Given the description of an element on the screen output the (x, y) to click on. 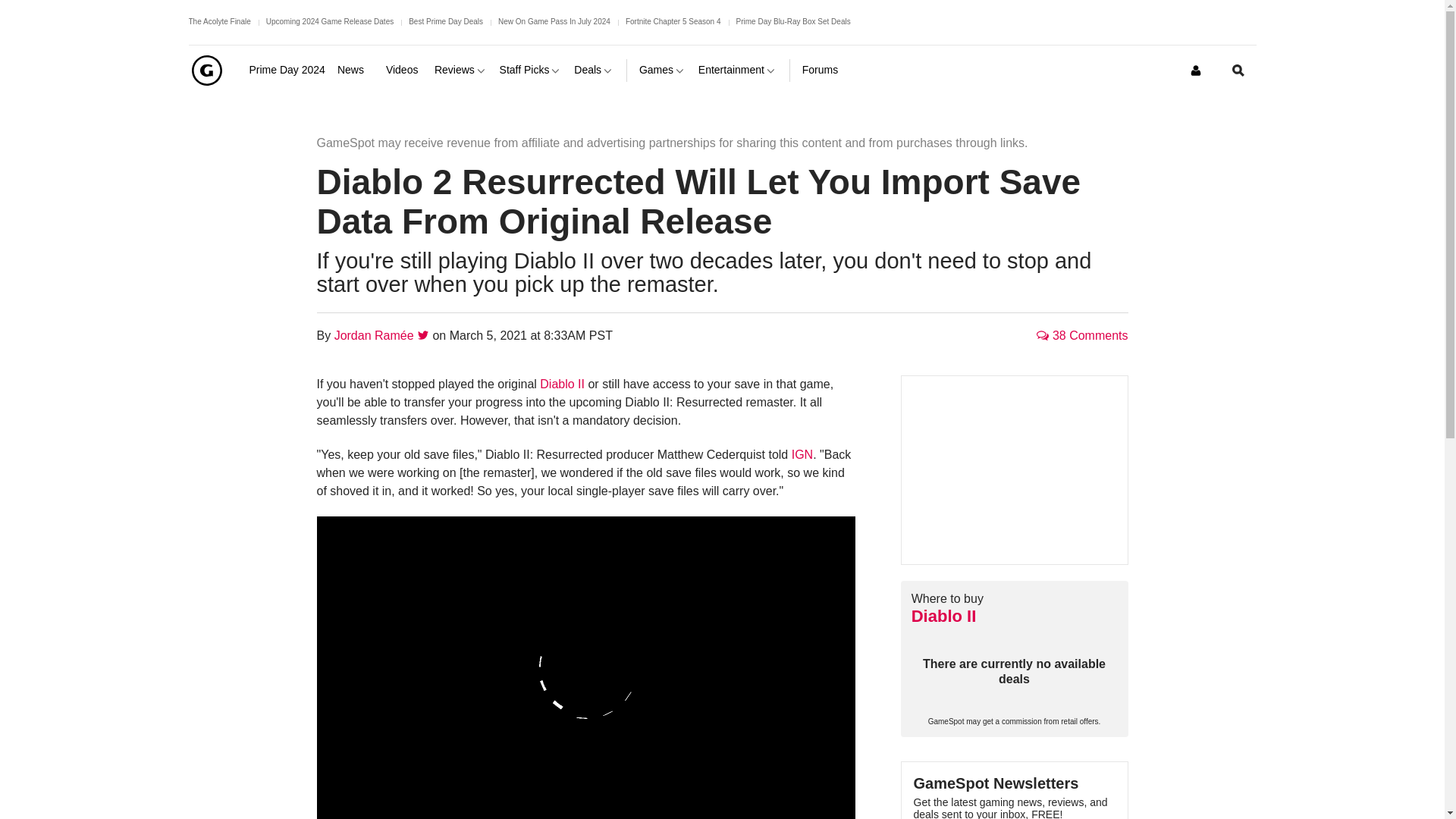
Deals (593, 70)
Reviews (460, 70)
Staff Picks (530, 70)
Best Prime Day Deals (446, 21)
Videos (403, 70)
GameSpot (205, 70)
The Acolyte Finale (218, 21)
Games (662, 70)
Upcoming 2024 Game Release Dates (329, 21)
News (355, 70)
New On Game Pass In July 2024 (553, 21)
Prime Day 2024 (286, 70)
Fortnite Chapter 5 Season 4 (673, 21)
Prime Day Blu-Ray Box Set Deals (793, 21)
